Given the description of an element on the screen output the (x, y) to click on. 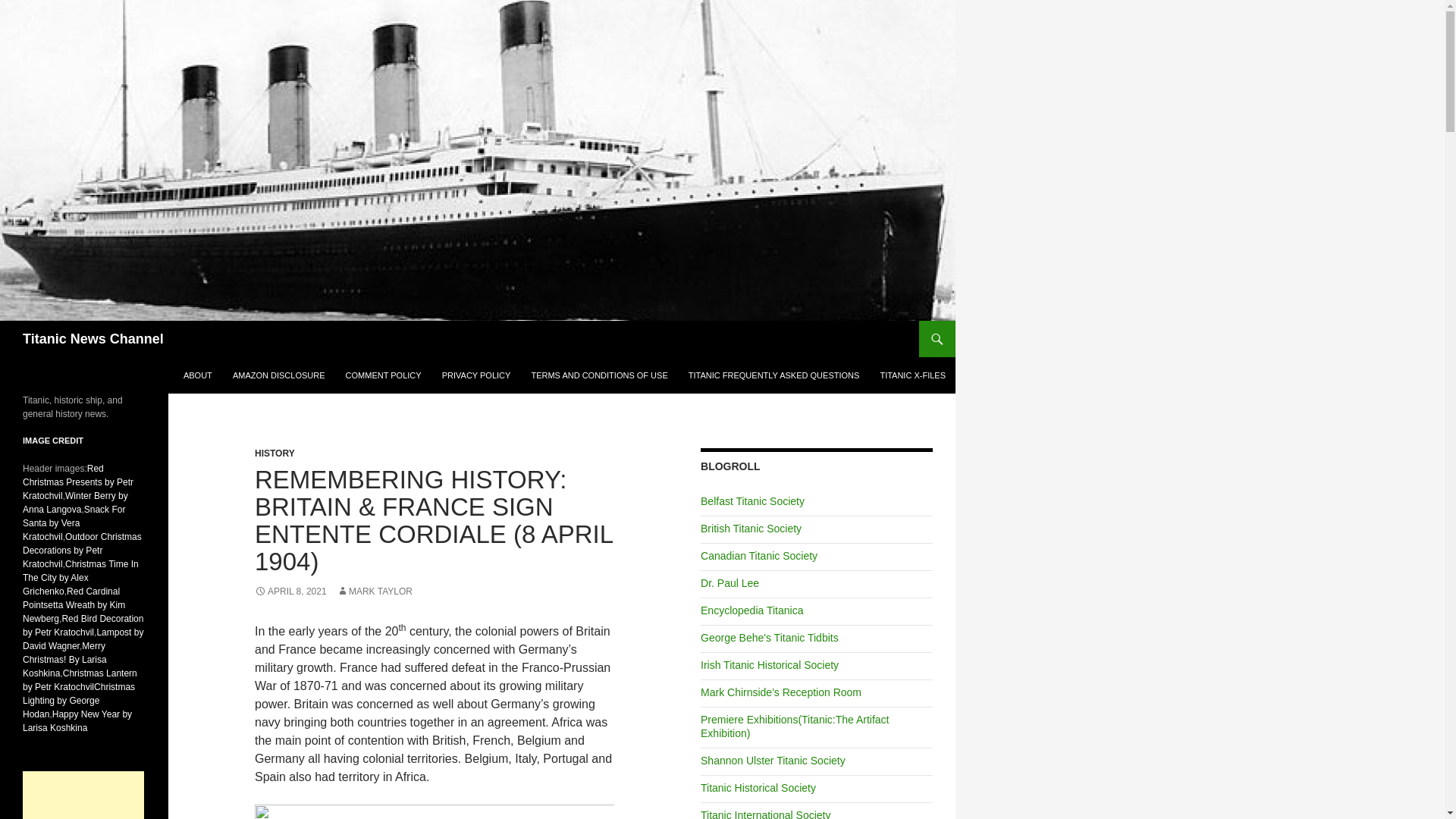
Mark Chirnside's Reception Room (780, 692)
COMMENT POLICY (383, 375)
Canadian Titanic Society (758, 555)
British Titanic Society (751, 528)
APRIL 8, 2021 (290, 591)
George Behe's Titanic Tidbits (769, 637)
HISTORY (274, 452)
TITANIC FREQUENTLY ASKED QUESTIONS (774, 375)
TITANIC X-FILES (912, 375)
